Given the description of an element on the screen output the (x, y) to click on. 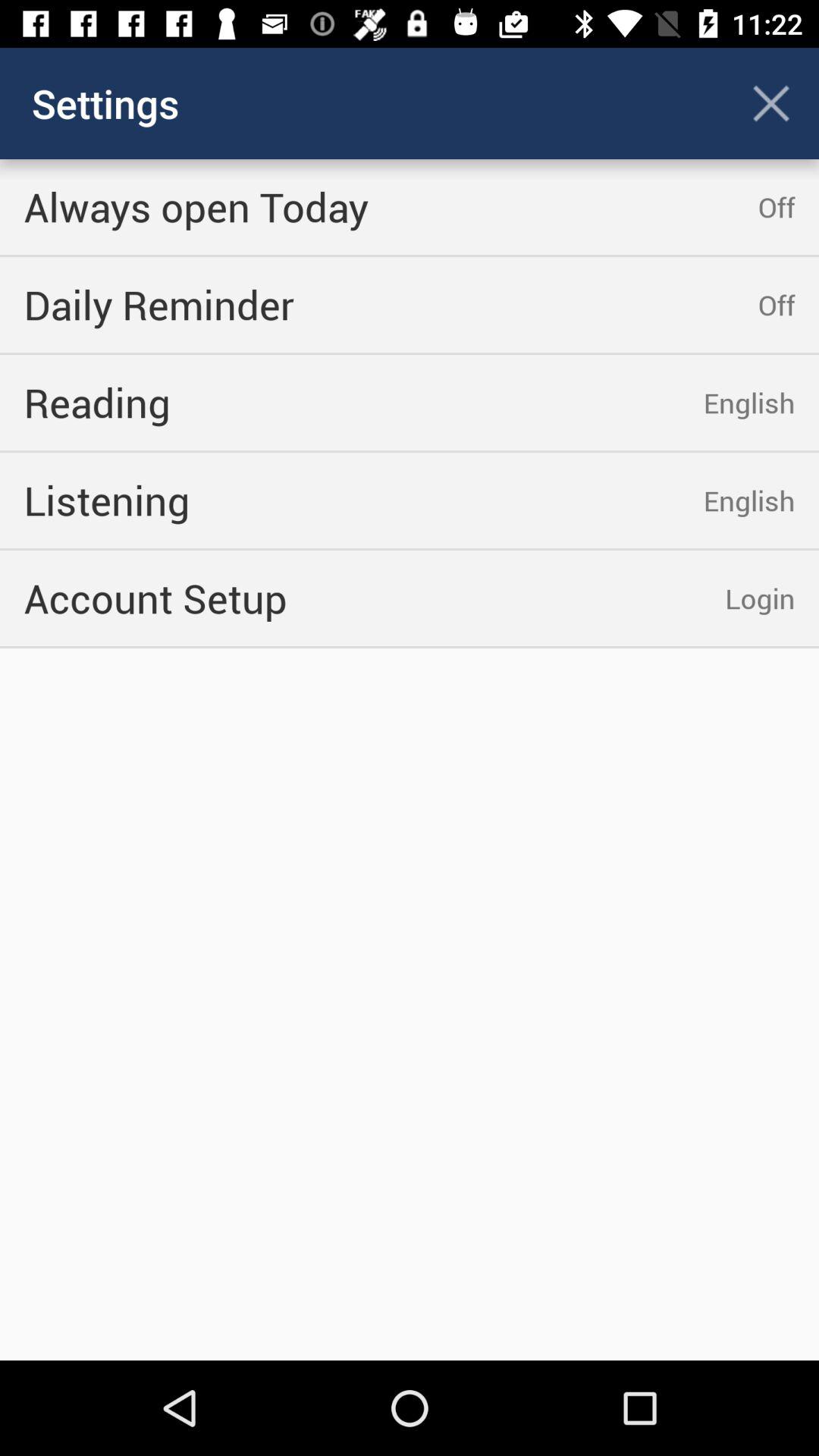
click on the cross icon (771, 103)
